Given the description of an element on the screen output the (x, y) to click on. 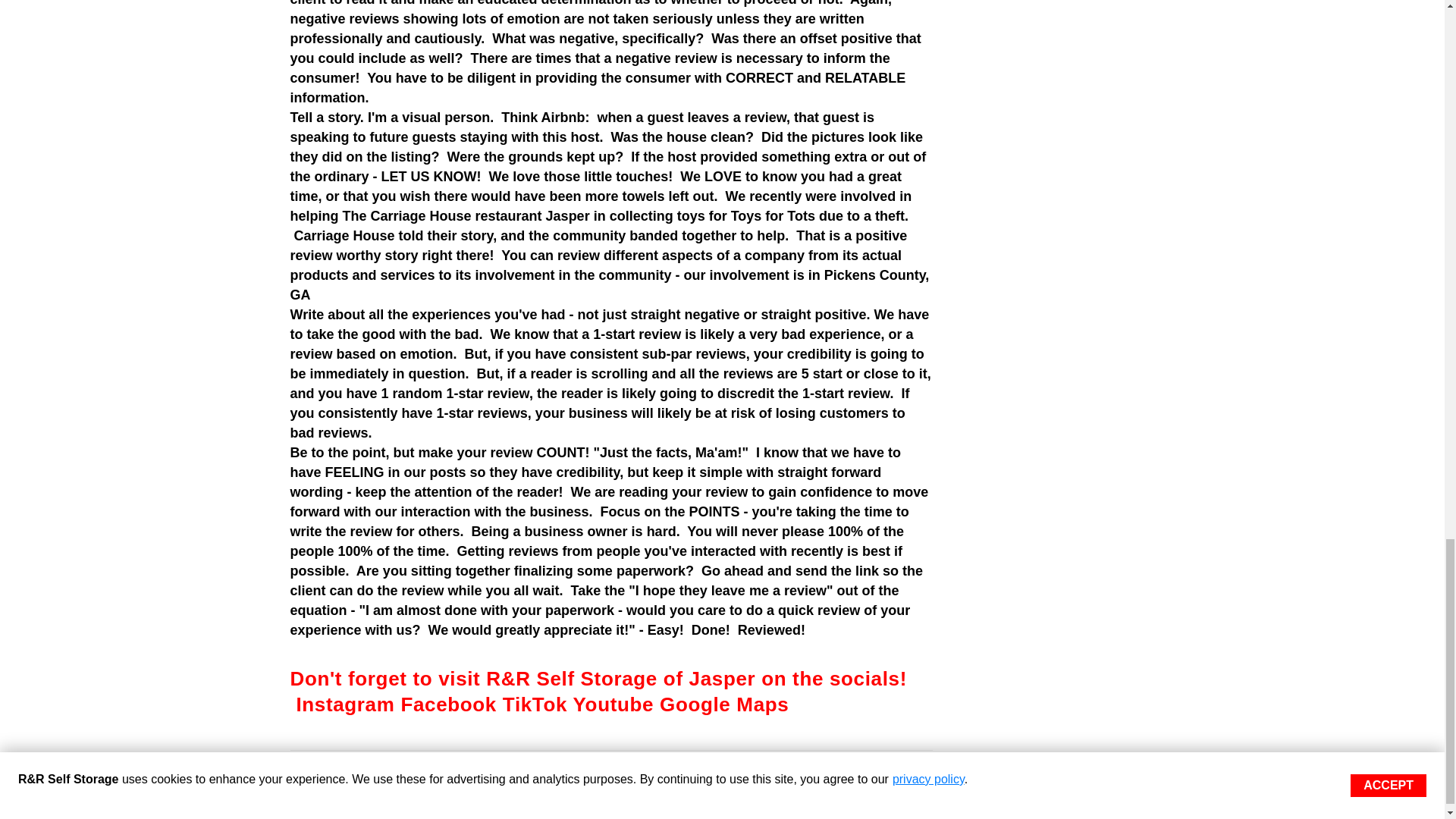
Facebook (448, 703)
Youtube (613, 703)
The Carriage House (406, 215)
Airbnb (563, 117)
TikTok (534, 703)
Google Maps (724, 703)
Instagram (344, 703)
Pickens County, GA (611, 284)
Toys for Tots (772, 215)
